Given the description of an element on the screen output the (x, y) to click on. 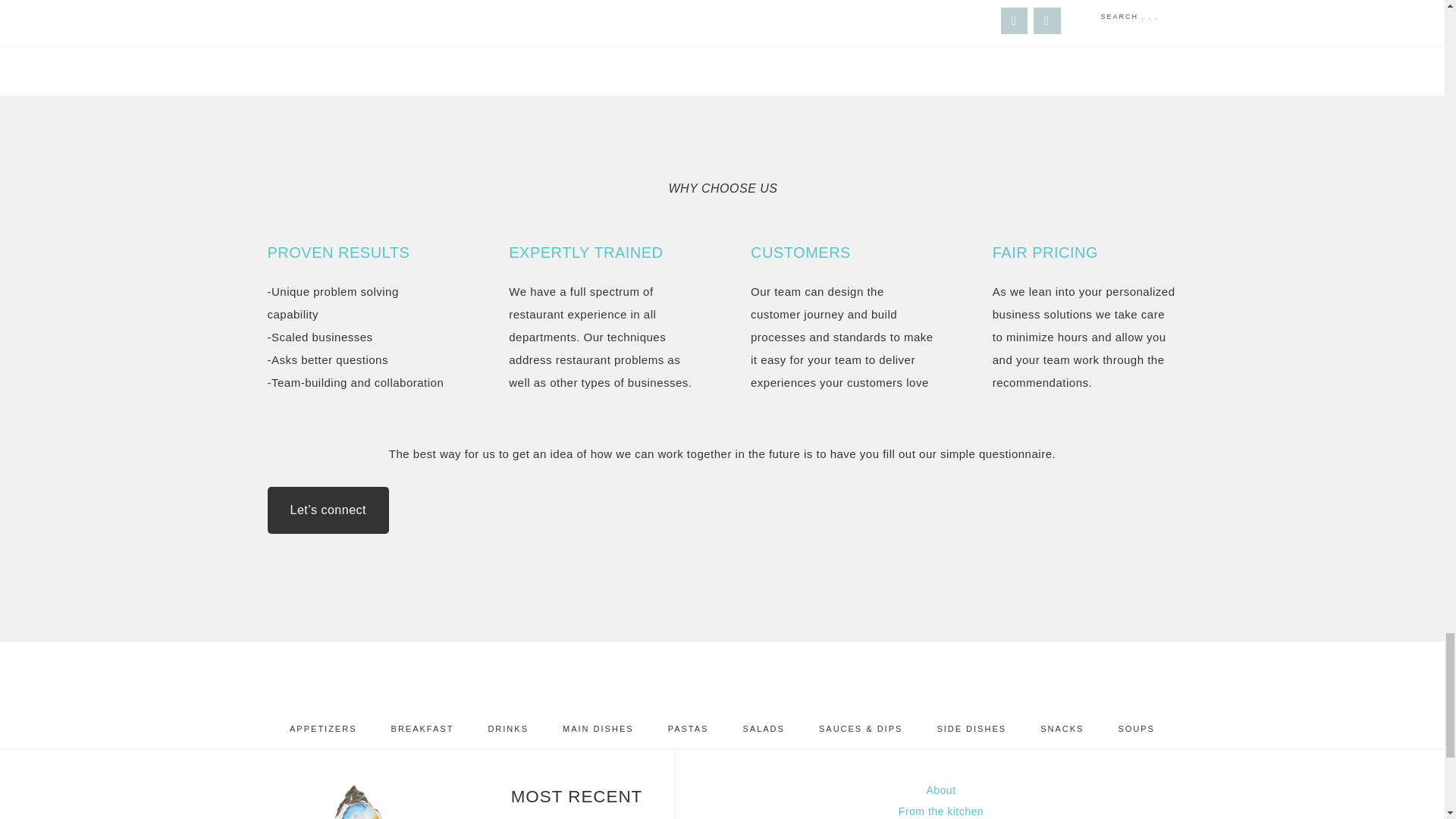
SIDE DISHES (971, 729)
DRINKS (507, 729)
SNACKS (1062, 729)
PASTAS (687, 729)
APPETIZERS (323, 729)
BREAKFAST (421, 729)
MAIN DISHES (598, 729)
SALADS (762, 729)
